Given the description of an element on the screen output the (x, y) to click on. 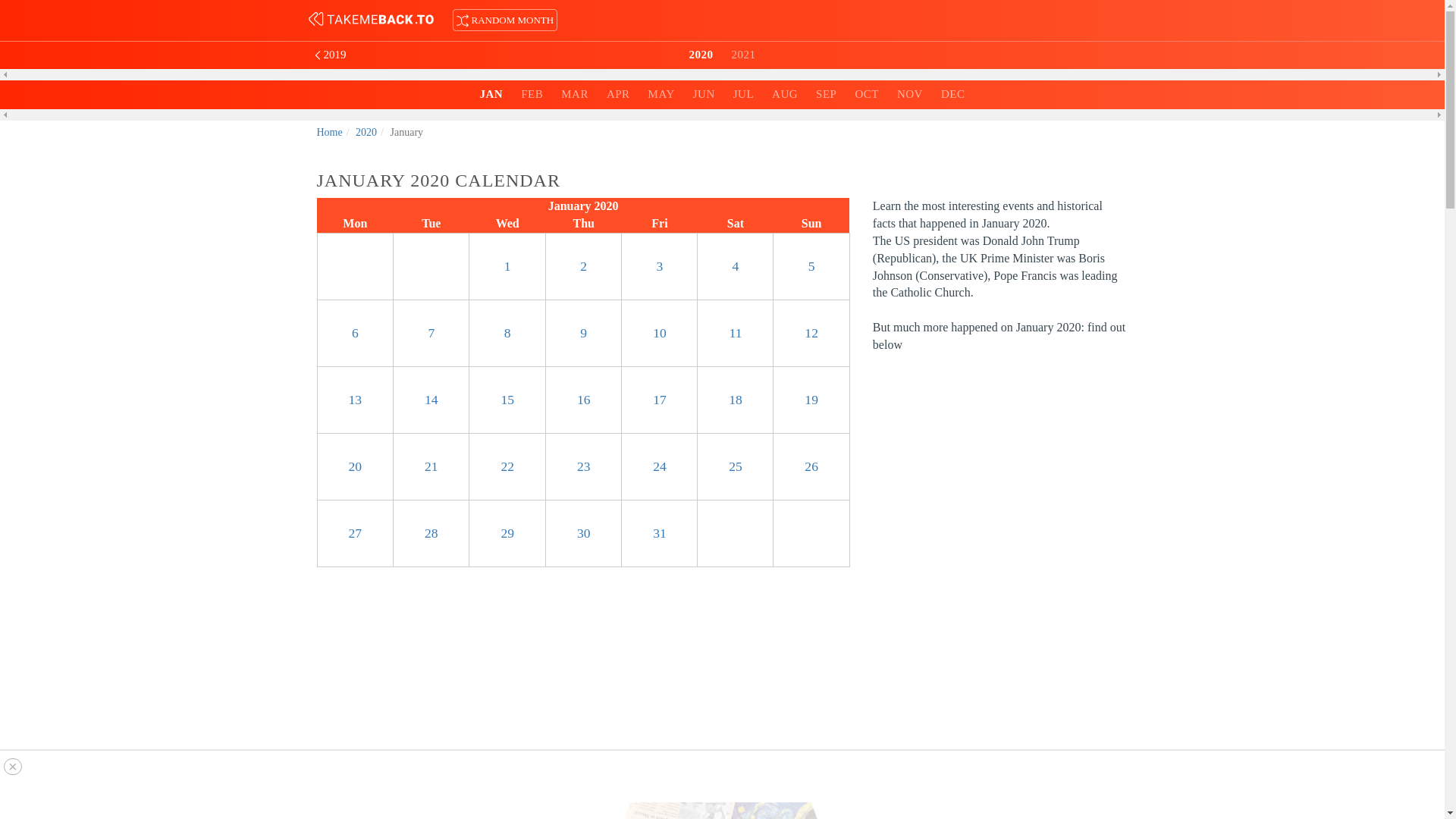
2019 (372, 54)
13 (355, 399)
JUL (742, 93)
NOV (909, 93)
10 (659, 332)
12 (811, 332)
APR (617, 93)
17 (659, 399)
21 (431, 466)
FEB (531, 93)
2021 (743, 54)
MAR (573, 93)
15 (506, 399)
AUG (784, 93)
